Given the description of an element on the screen output the (x, y) to click on. 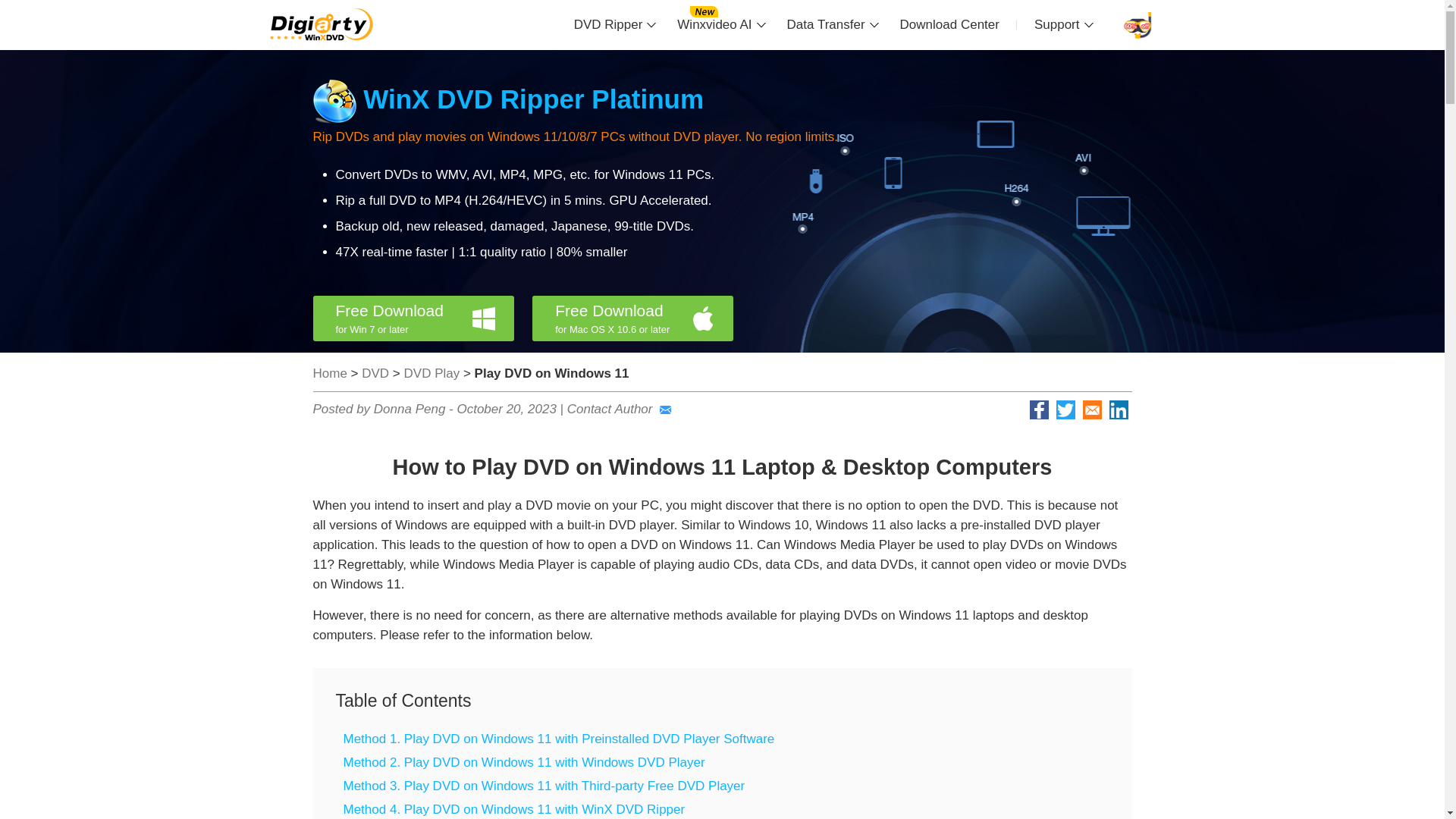
Home (329, 373)
DVD (374, 373)
Contact Author (619, 409)
Download Center (420, 318)
DVD Play (948, 24)
Method 2. Play DVD on Windows 11 with Windows DVD Player (432, 373)
